Given the description of an element on the screen output the (x, y) to click on. 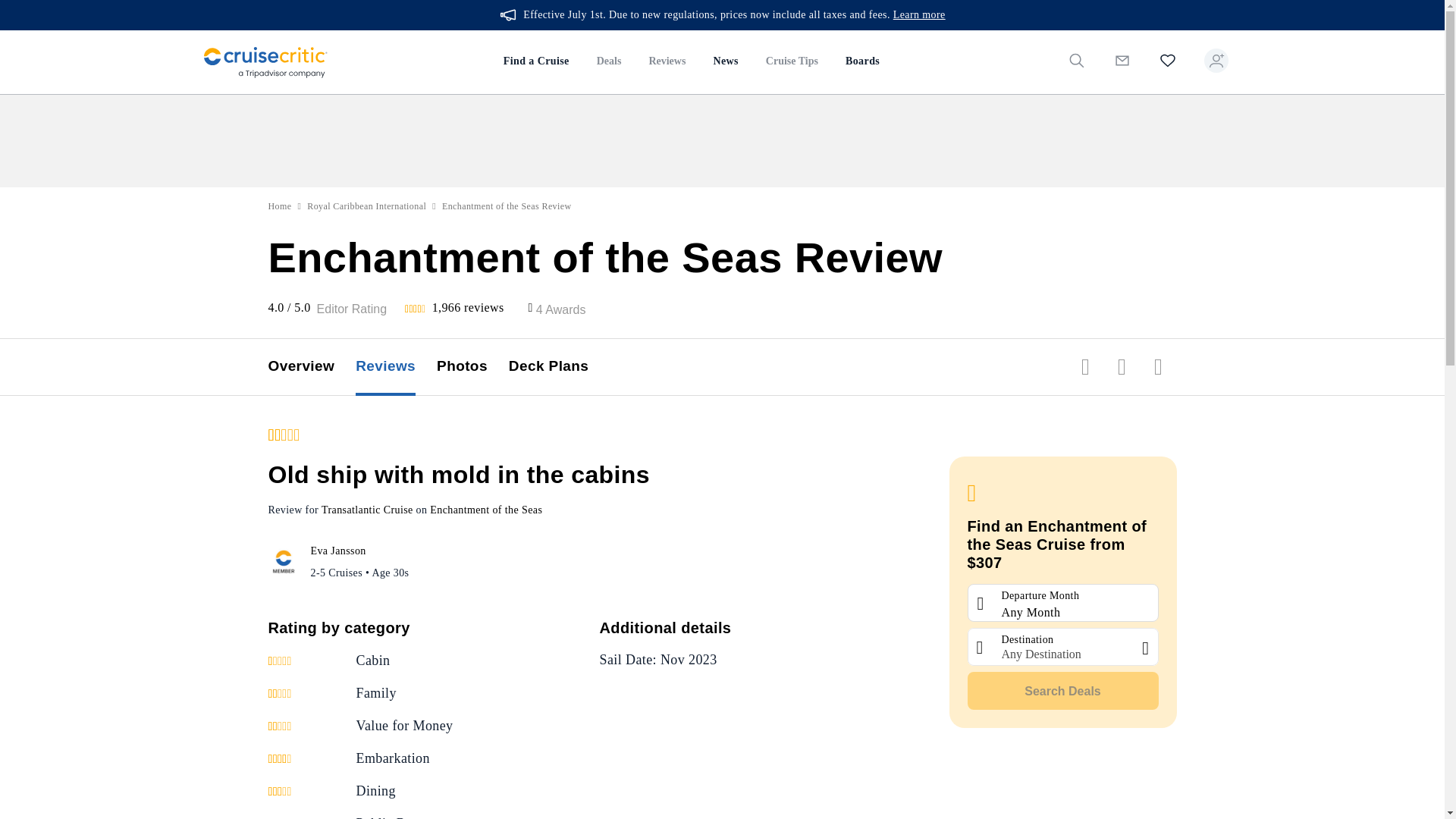
4 Awards (560, 309)
Deck Plans (559, 366)
Enchantment of the Seas (485, 509)
Cruise Tips (791, 62)
Photos (472, 366)
Enchantment of the Seas Review (507, 205)
Overview (311, 366)
Find a Cruise (536, 62)
Editor Rating (352, 309)
Transatlantic Cruise (367, 509)
1,966 reviews (467, 307)
Reviews (395, 366)
Home (279, 205)
Reviews (666, 62)
Boards (861, 62)
